Given the description of an element on the screen output the (x, y) to click on. 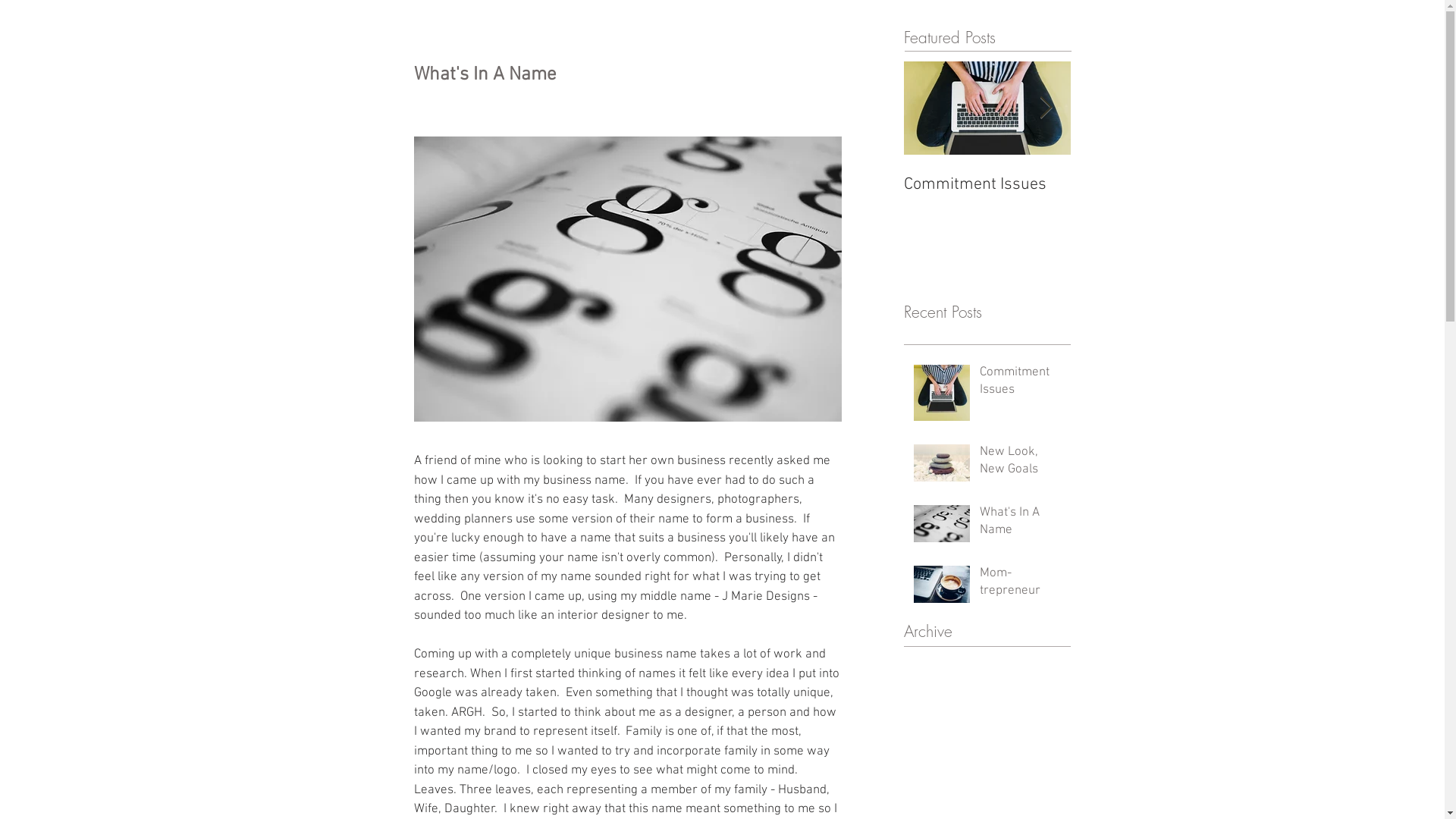
Mom-trepreneur Element type: text (1020, 585)
Mom-trepreneur Element type: text (1153, 184)
Commitment Issues Element type: text (986, 184)
Commitment Issues Element type: text (1020, 385)
What's In A Name Element type: text (1020, 525)
New Look, New Goals Element type: text (1020, 464)
